Given the description of an element on the screen output the (x, y) to click on. 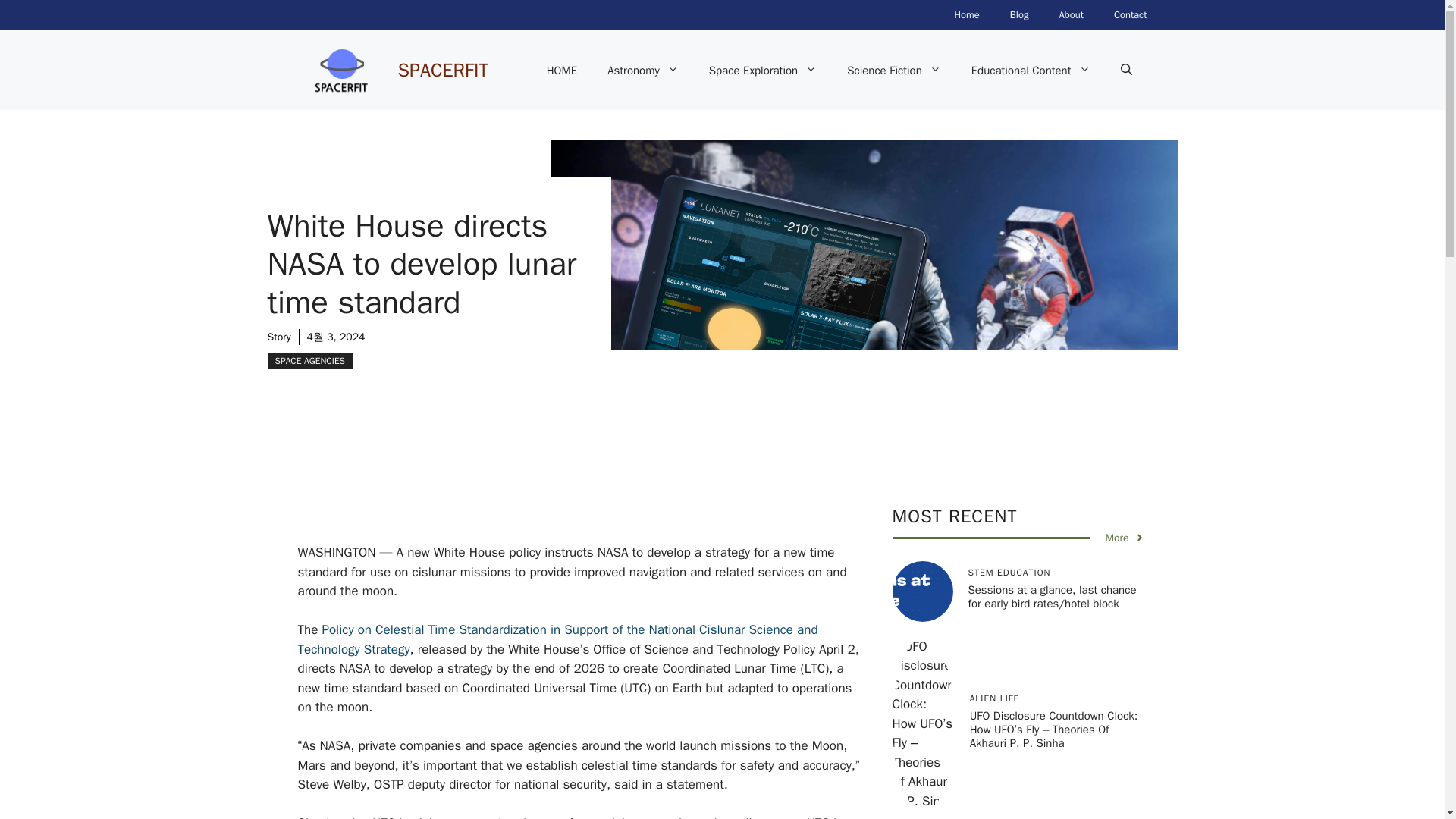
SPACERFIT (442, 69)
Space Exploration (762, 69)
About (1070, 15)
Blog (1018, 15)
Story (277, 336)
Science Fiction (893, 69)
Home (966, 15)
Contact (1130, 15)
SPACE AGENCIES (309, 360)
Astronomy (643, 69)
Educational Content (1030, 69)
HOME (561, 69)
